Given the description of an element on the screen output the (x, y) to click on. 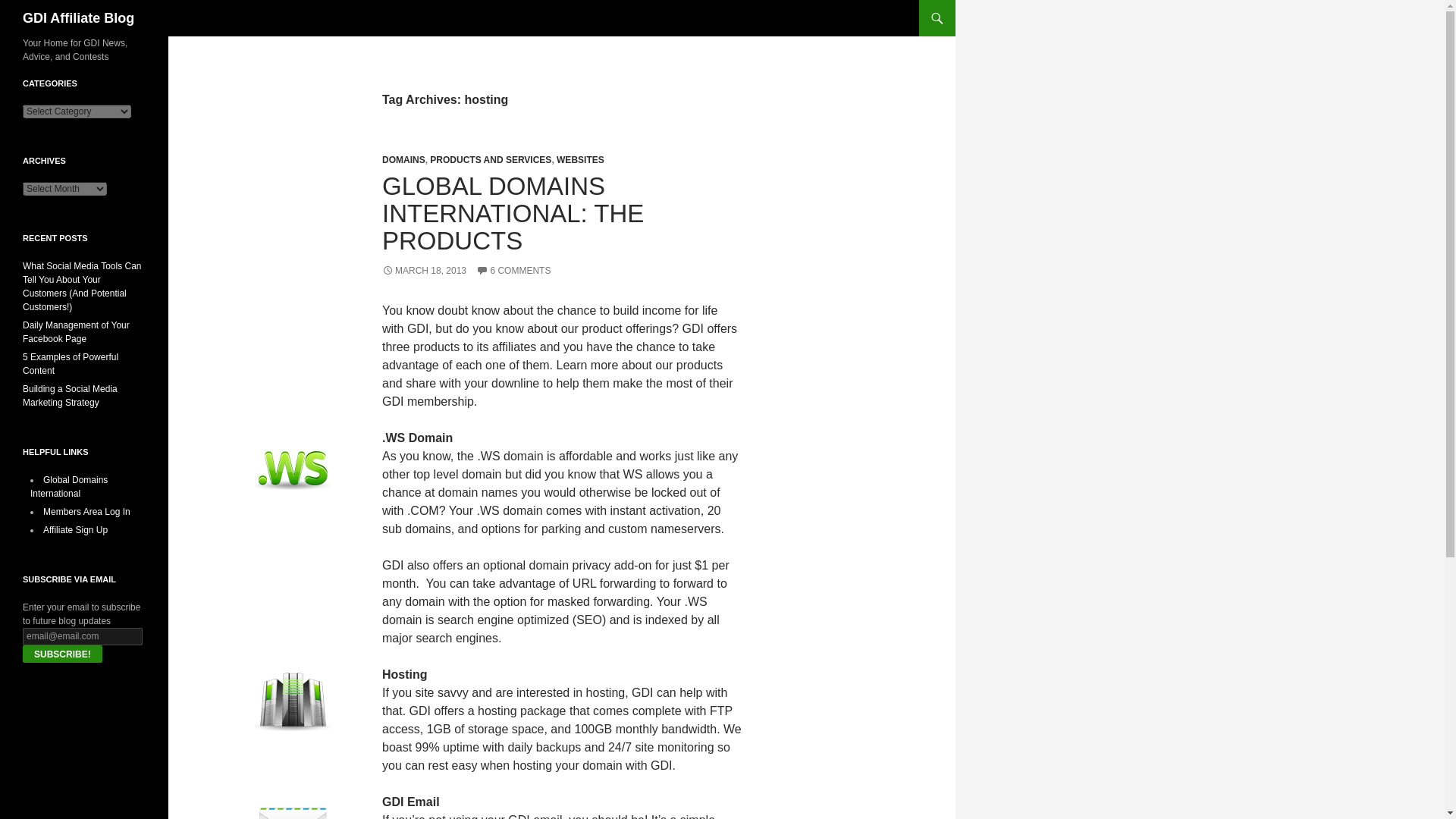
Global Domains International (68, 486)
Subscribe! (62, 653)
Members Area Log In (87, 511)
Daily Management of Your Facebook Page (76, 331)
PRODUCTS AND SERVICES (490, 159)
Affiliate Sign Up (75, 529)
6 COMMENTS (513, 270)
Building a Social Media Marketing Strategy (70, 395)
DOMAINS (403, 159)
MARCH 18, 2013 (423, 270)
GDI Affiliate Blog (78, 18)
5 Examples of Powerful Content (70, 363)
WEBSITES (580, 159)
GLOBAL DOMAINS INTERNATIONAL: THE PRODUCTS (512, 212)
